Given the description of an element on the screen output the (x, y) to click on. 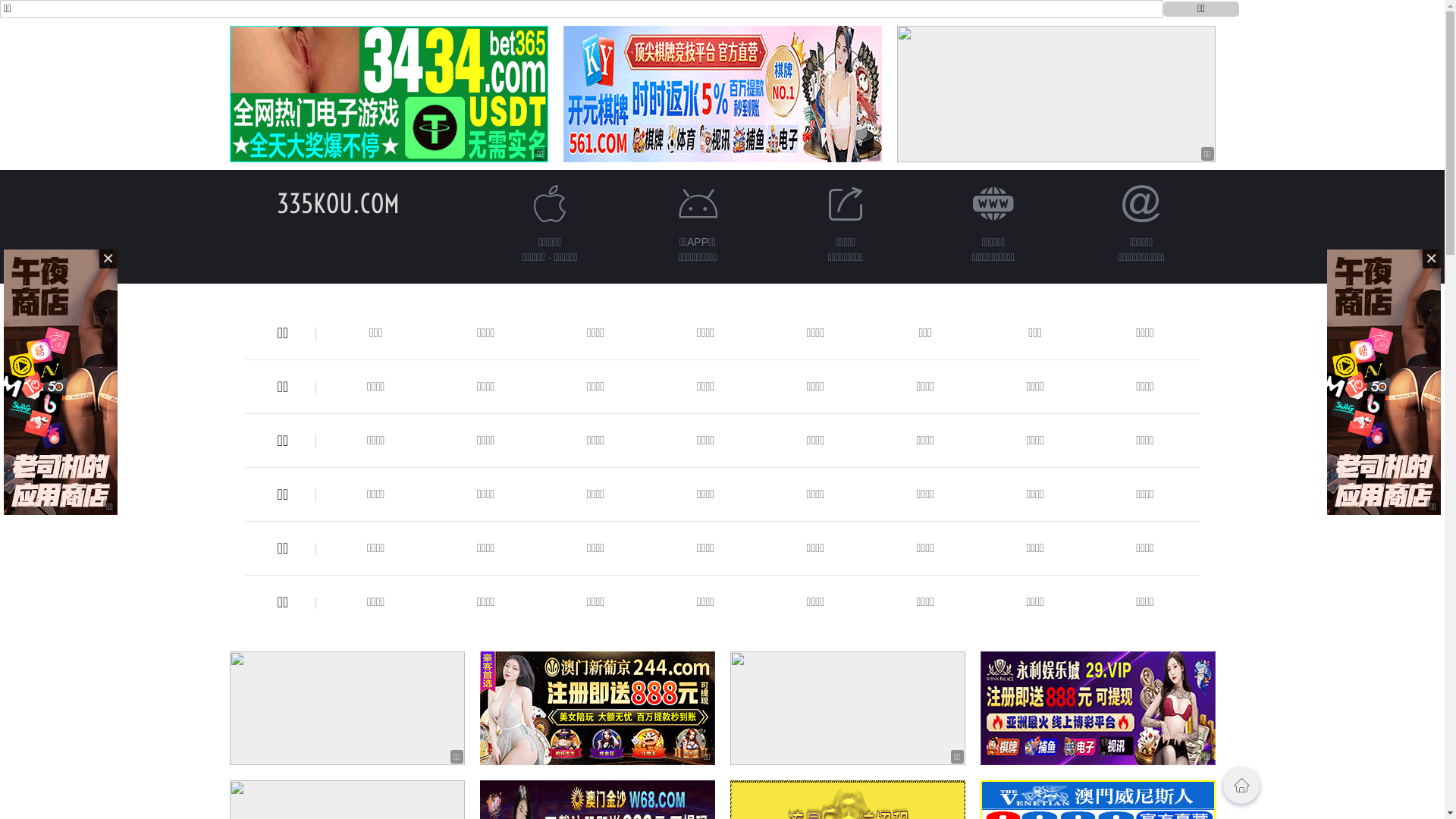
335KOU.COM Element type: text (337, 203)
